Given the description of an element on the screen output the (x, y) to click on. 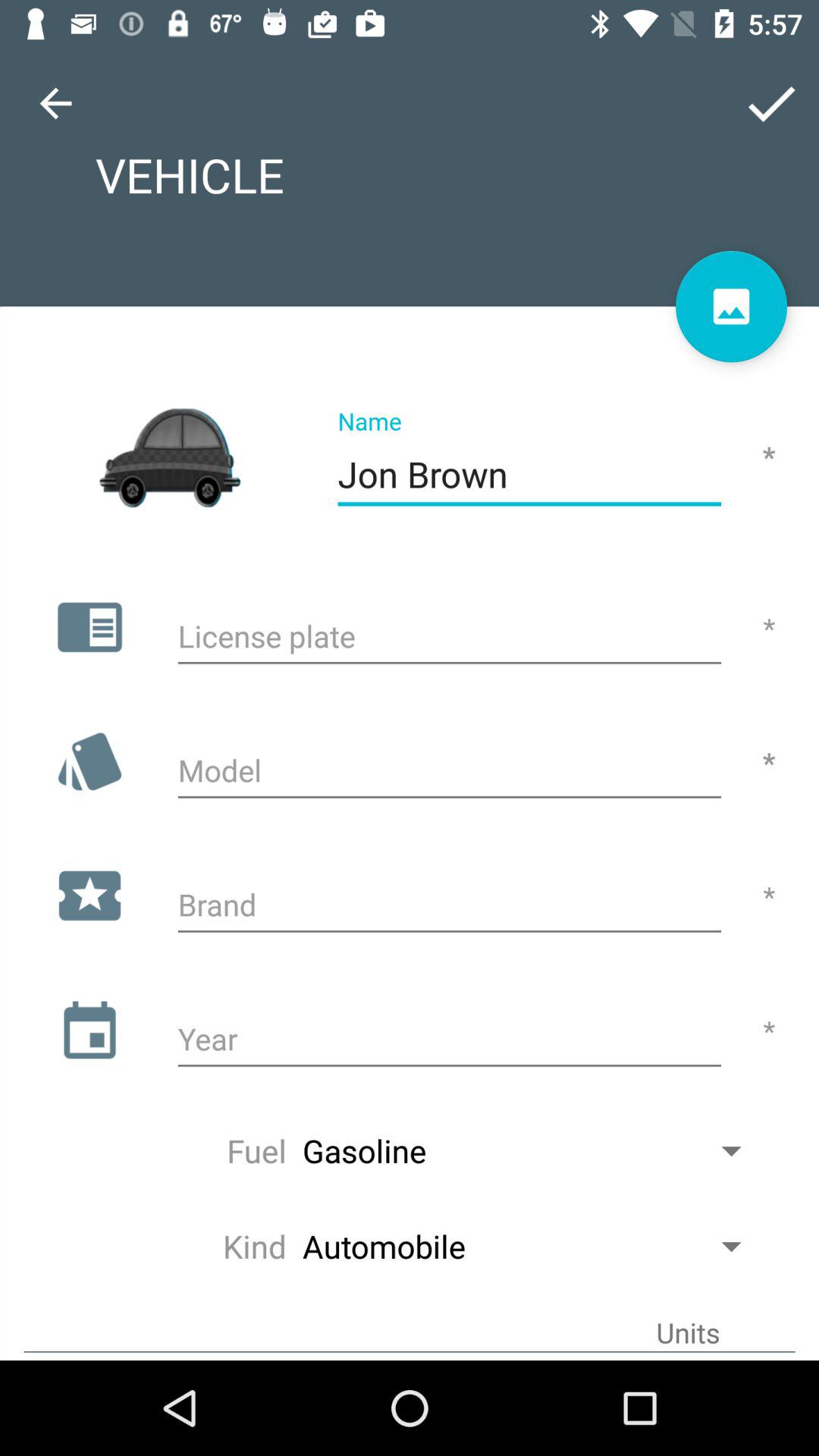
share the article (731, 306)
